Given the description of an element on the screen output the (x, y) to click on. 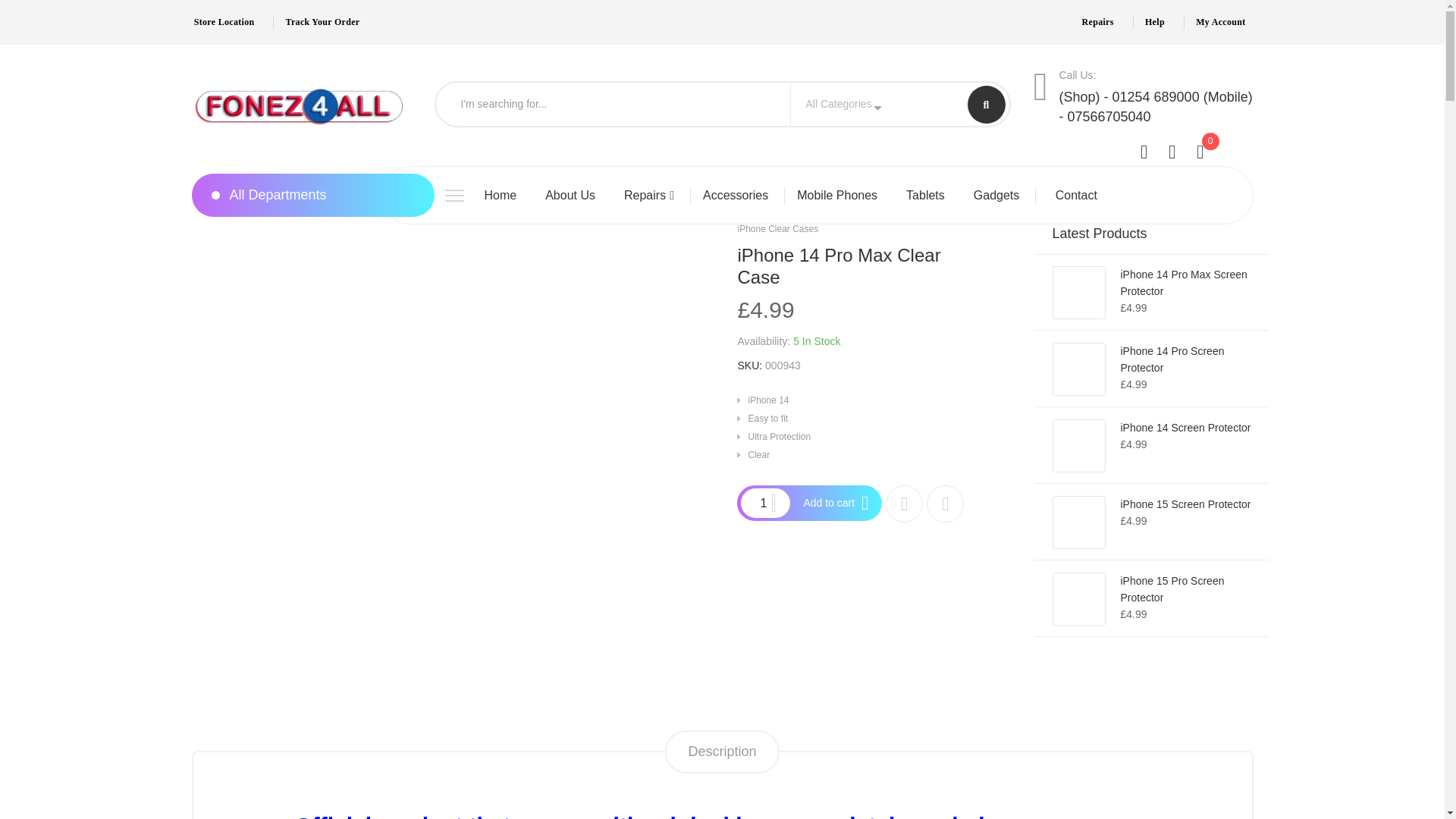
About Us (569, 195)
Repairs (1099, 21)
0 (1209, 154)
My Account (1223, 21)
 Help (1157, 21)
 My Account (1223, 21)
1 (755, 502)
Help (1157, 21)
Store Location (226, 21)
 Track Your Order (324, 21)
